Given the description of an element on the screen output the (x, y) to click on. 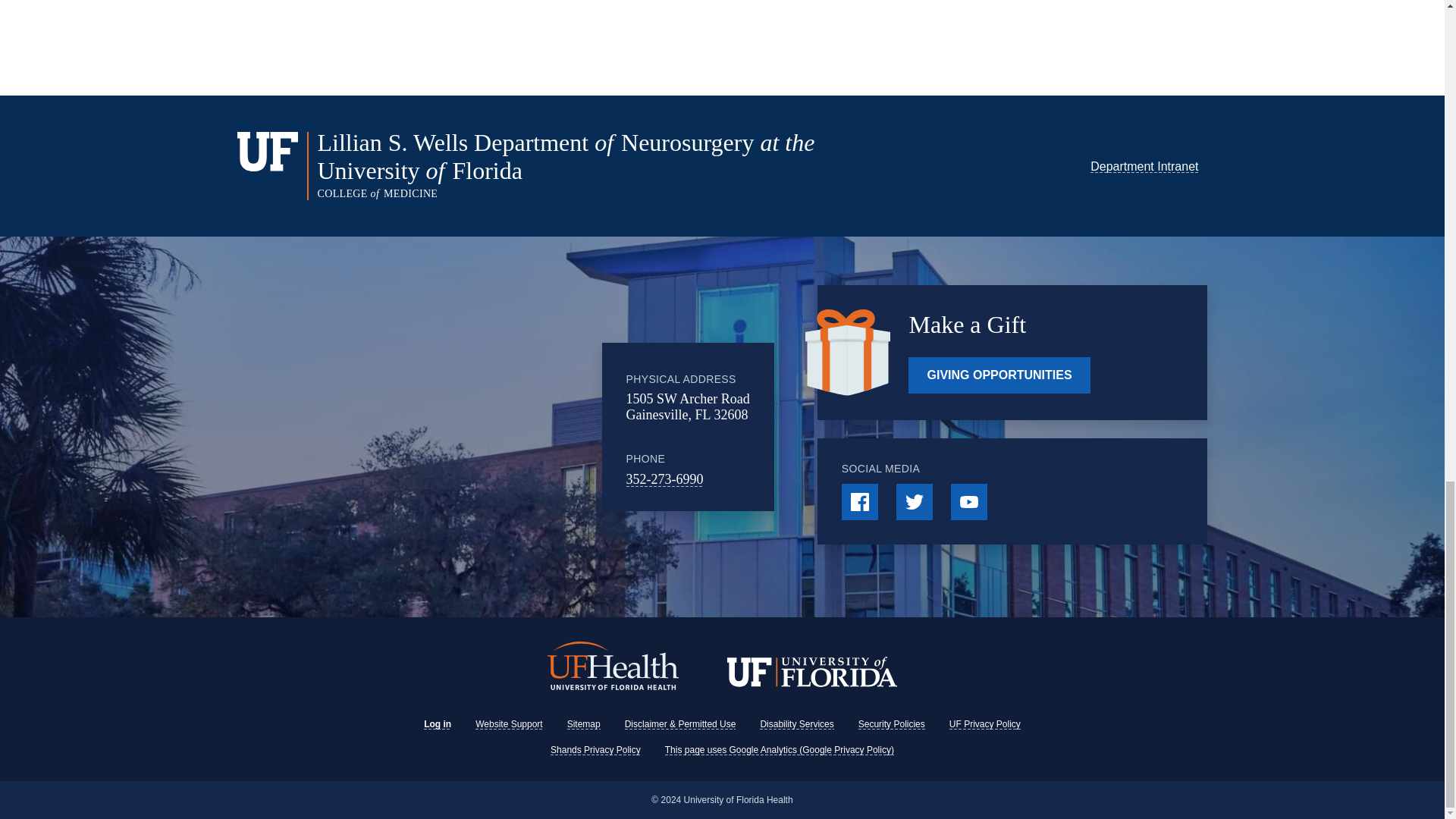
Website Support (509, 724)
Sitemap (583, 724)
Log in (437, 724)
Department Intranet (1144, 165)
Disability Services (796, 724)
UF Privacy Policy (984, 724)
Google Maps Embed (477, 426)
352-273-6990 (664, 478)
Shands Privacy Policy (595, 749)
Security Policies (891, 724)
